Given the description of an element on the screen output the (x, y) to click on. 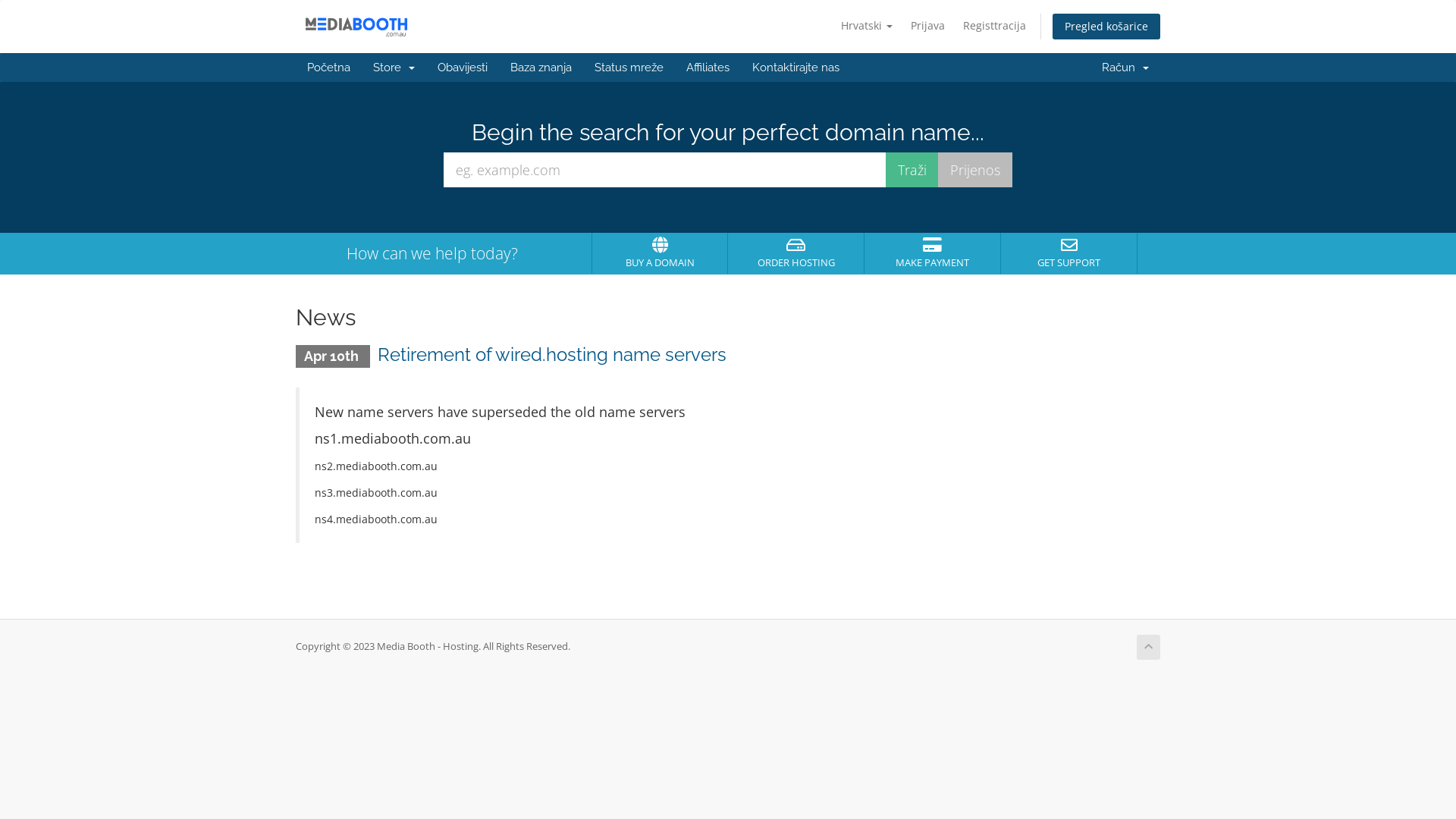
Baza znanja Element type: text (540, 67)
Prijava Element type: text (927, 25)
Prijenos Element type: text (975, 169)
Hrvatski Element type: text (866, 25)
Registtracija Element type: text (994, 25)
Required Element type: hover (664, 169)
Retirement of wired.hosting name servers Element type: text (551, 354)
Kontaktirajte nas Element type: text (795, 67)
ORDER HOSTING Element type: text (795, 252)
MAKE PAYMENT Element type: text (931, 252)
BUY A DOMAIN Element type: text (659, 252)
Obavijesti Element type: text (462, 67)
Affiliates Element type: text (707, 67)
GET SUPPORT Element type: text (1068, 252)
Store   Element type: text (393, 67)
